Given the description of an element on the screen output the (x, y) to click on. 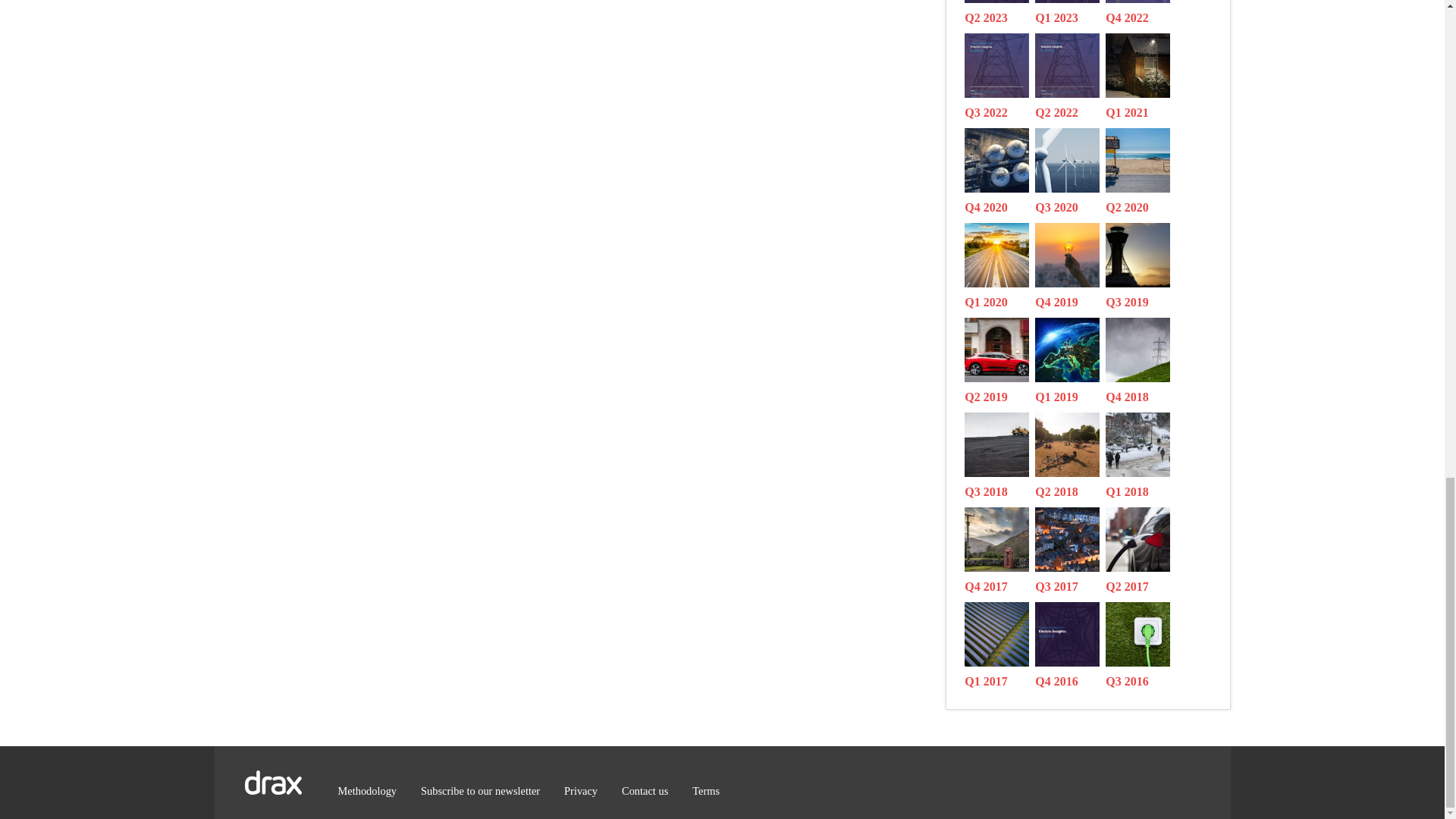
Q4 2022 (1140, 13)
Q1 2023 (1070, 13)
Q2 2023 (999, 13)
